Given the description of an element on the screen output the (x, y) to click on. 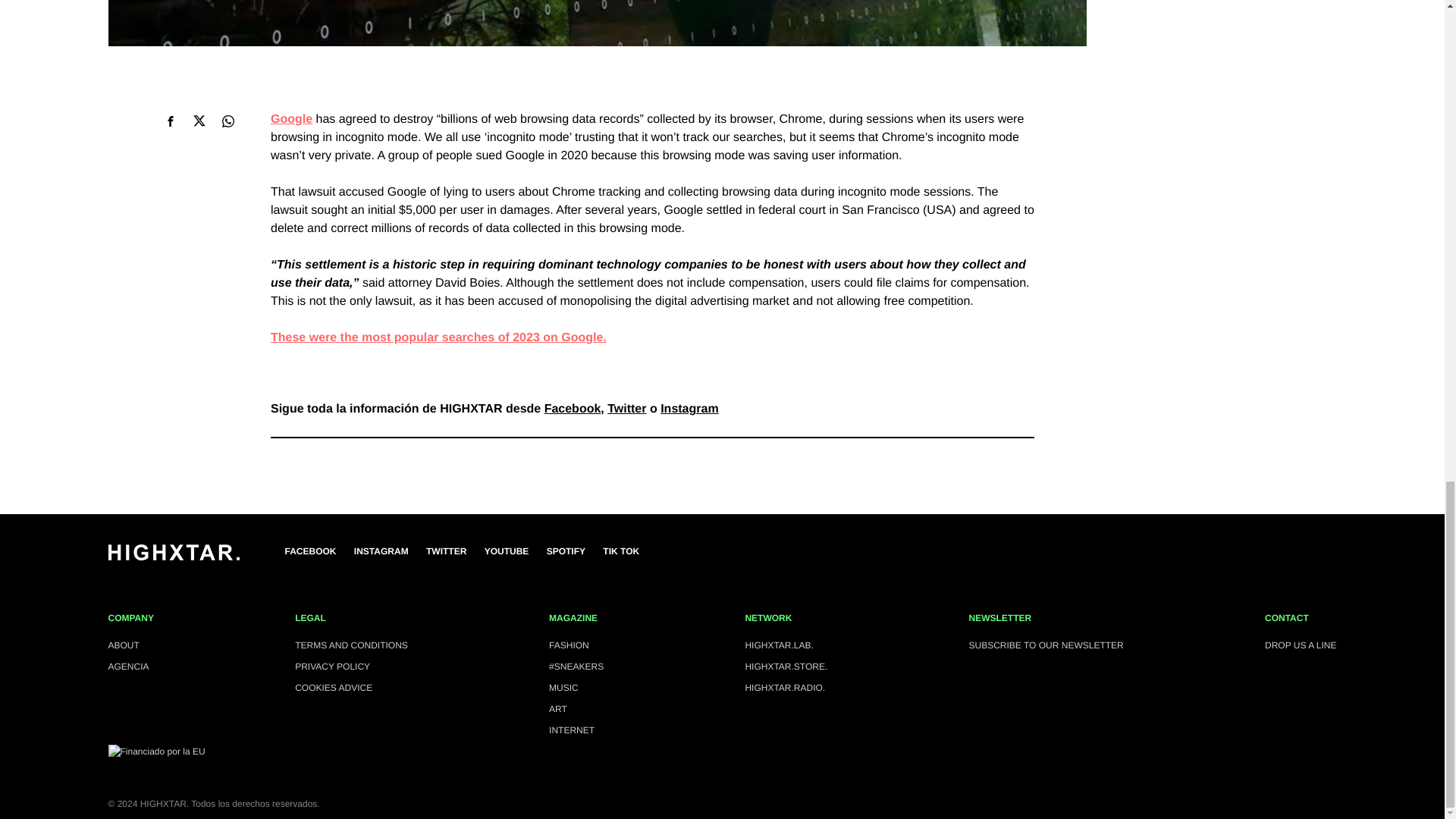
Instagram (381, 550)
Highxtar Twitter (626, 408)
Facebook (310, 550)
Highxtar Instagram (689, 408)
Highxtar Facebook (572, 408)
Enlace a Inicio (172, 557)
